Given the description of an element on the screen output the (x, y) to click on. 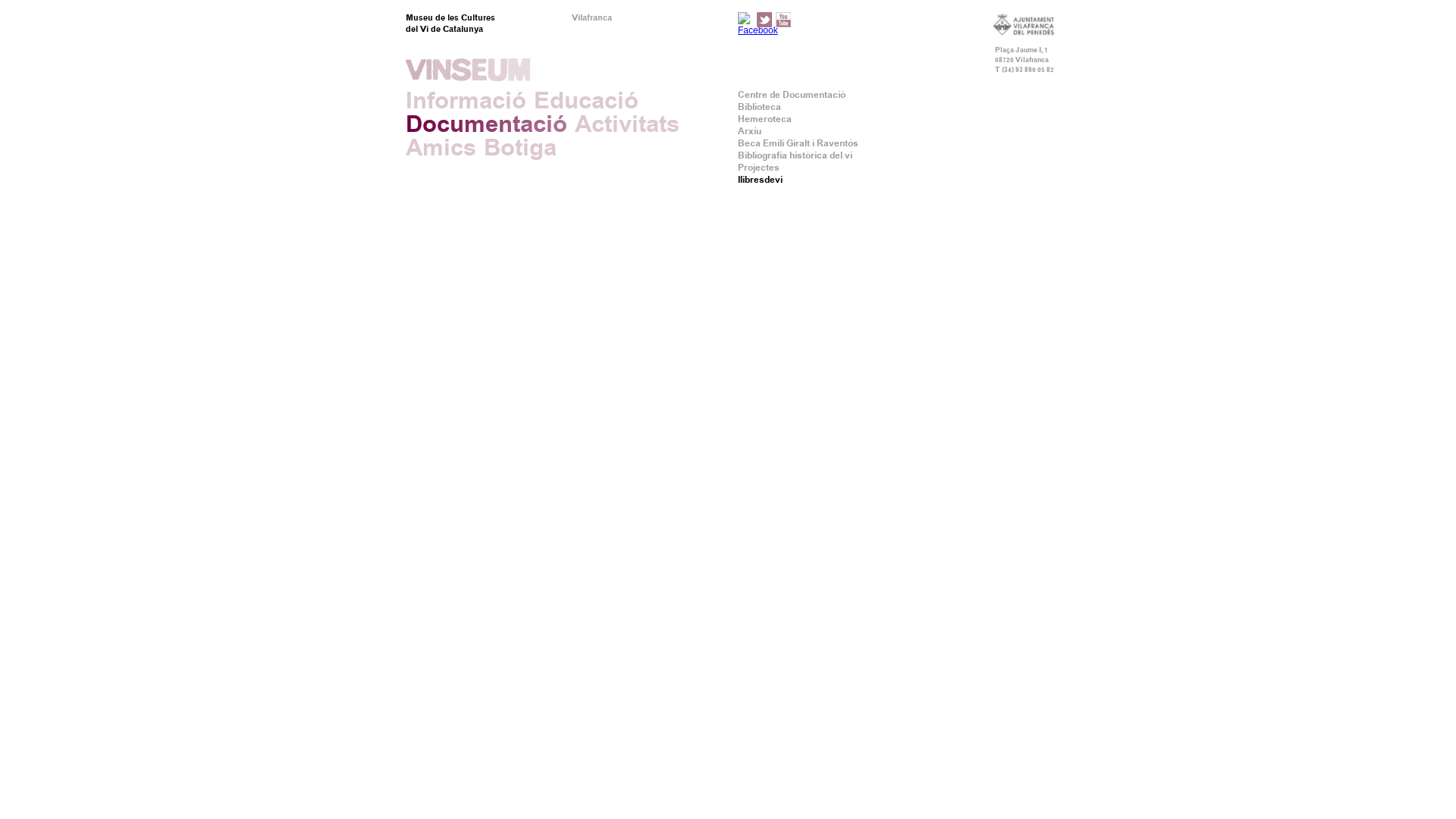
Arxiu Element type: text (749, 130)
Botiga Element type: text (519, 147)
Hemeroteca Element type: text (764, 118)
Amics Element type: text (440, 147)
llibresdevi Element type: text (759, 179)
Projectes Element type: text (758, 167)
Activitats Element type: text (626, 123)
Biblioteca Element type: text (759, 106)
